Given the description of an element on the screen output the (x, y) to click on. 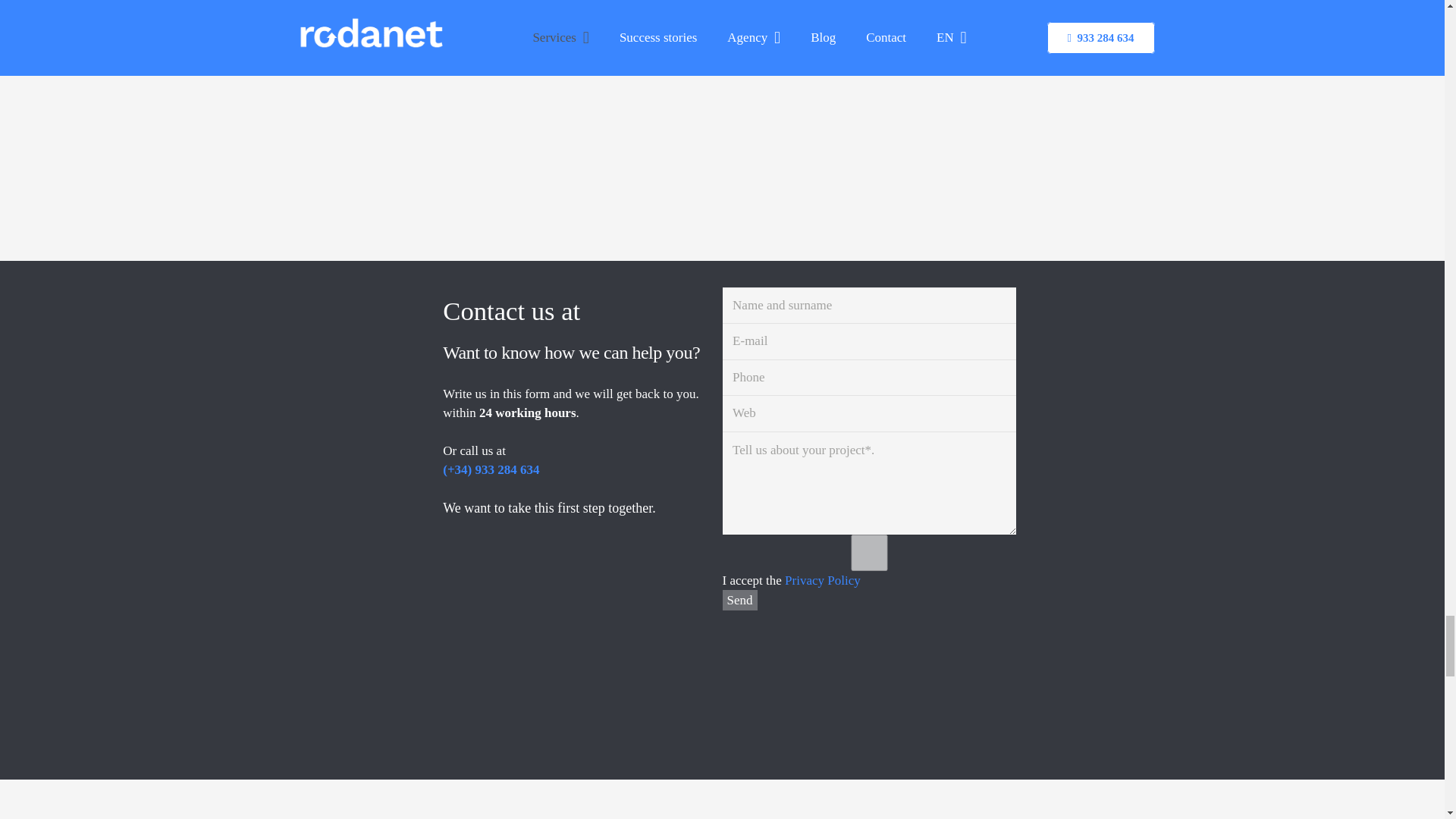
Send (739, 599)
1 (869, 552)
